Given the description of an element on the screen output the (x, y) to click on. 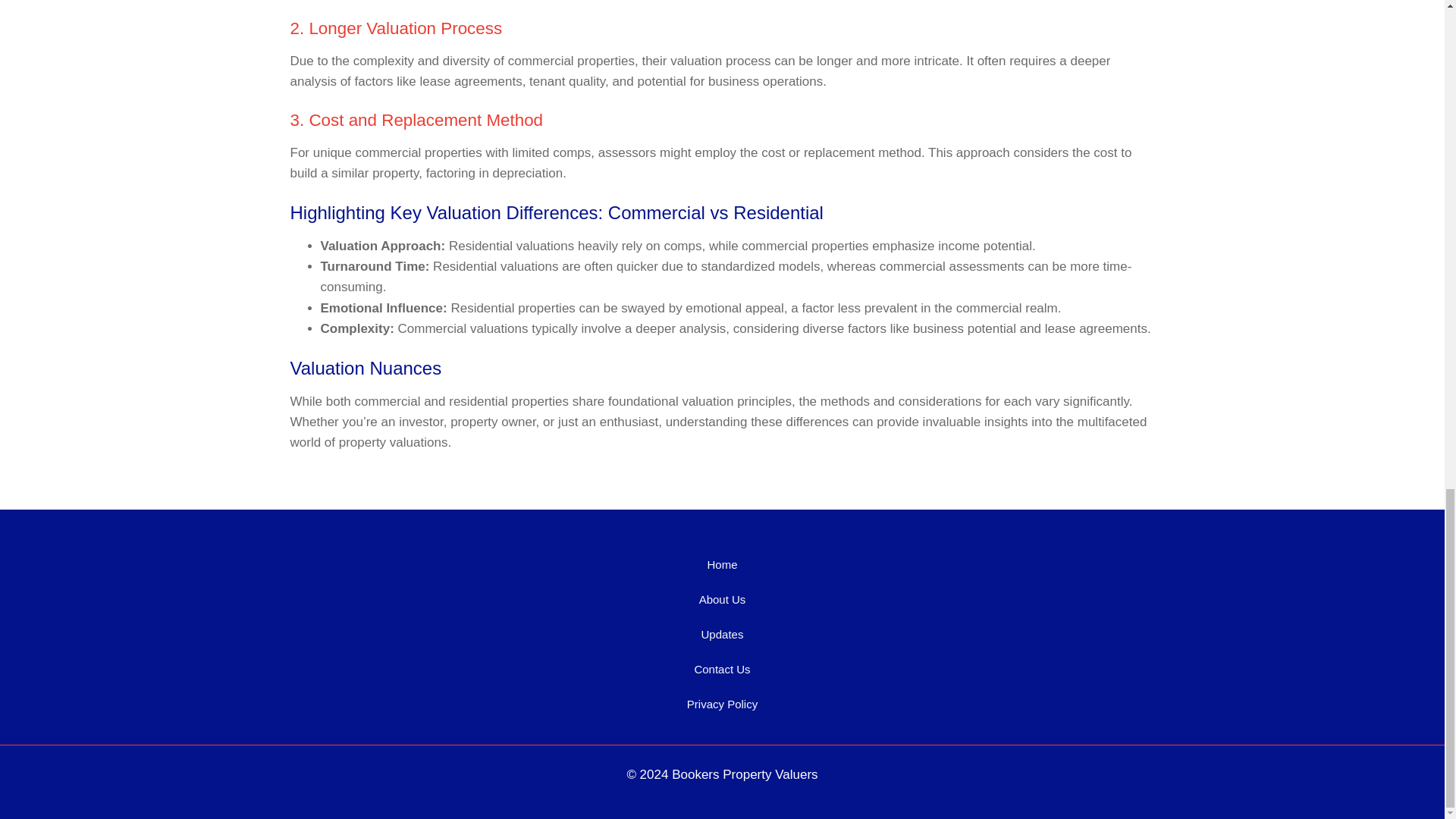
Contact Us (722, 669)
About Us (722, 599)
Home (722, 564)
Privacy Policy (722, 704)
Updates (722, 634)
